Given the description of an element on the screen output the (x, y) to click on. 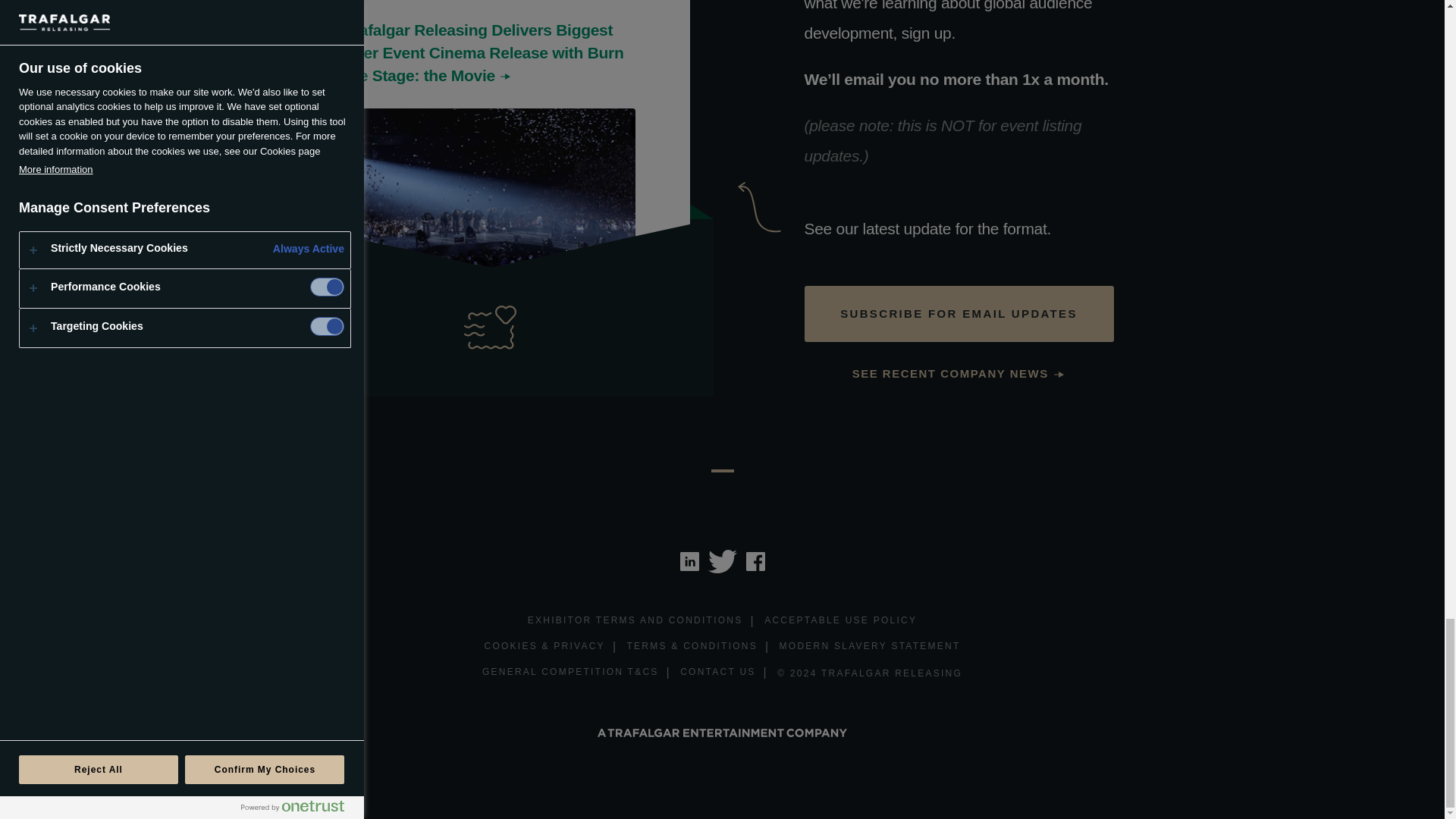
EXHIBITOR TERMS AND CONDITIONS (634, 621)
MODERN SLAVERY STATEMENT (869, 647)
SEE RECENT COMPANY NEWS (958, 374)
CONTACT US (717, 672)
ACCEPTABLE USE POLICY (840, 621)
SUBSCRIBE FOR EMAIL UPDATES (958, 313)
